Given the description of an element on the screen output the (x, y) to click on. 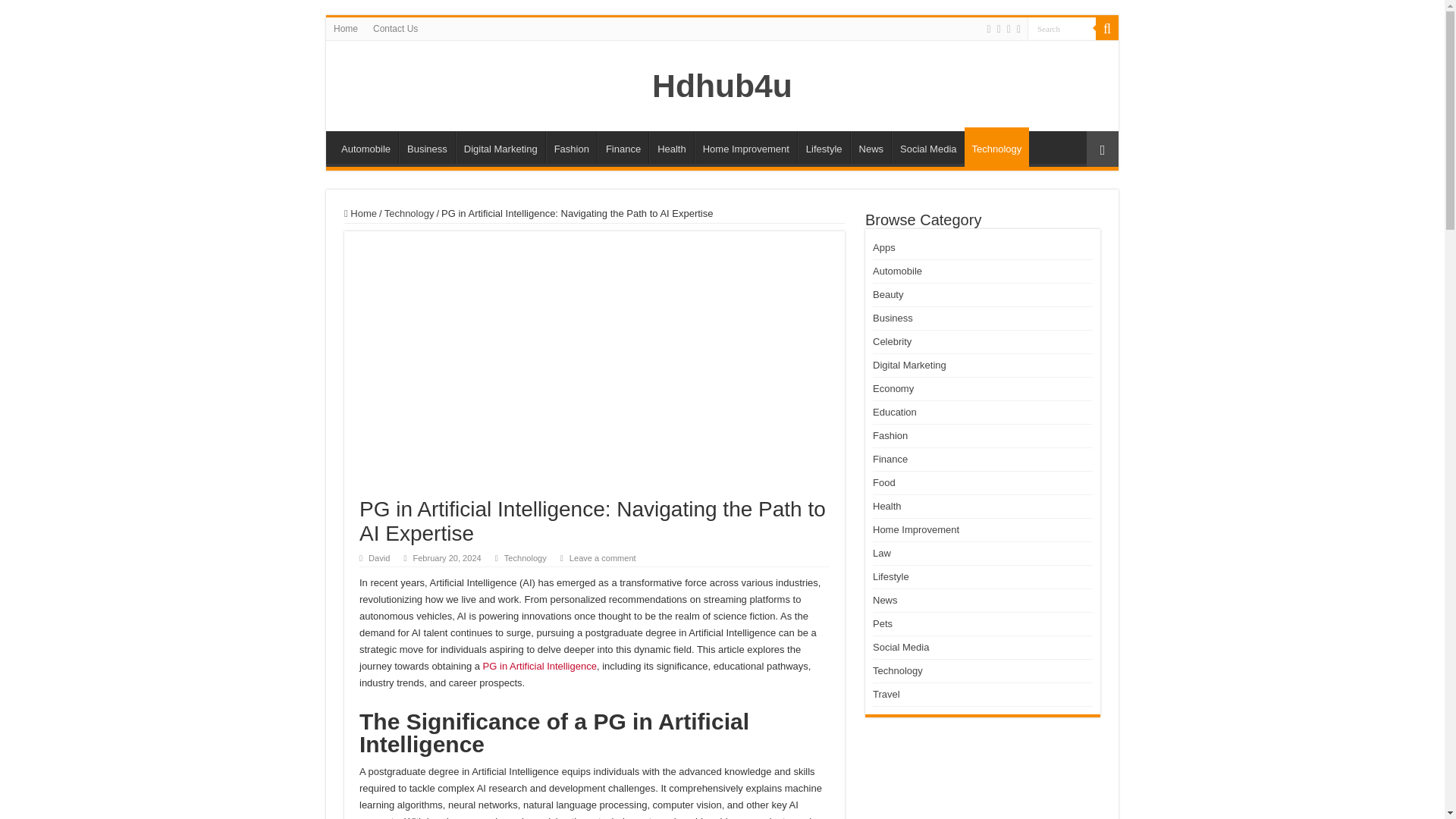
News (870, 146)
David (379, 557)
Business (426, 146)
Contact Us (395, 28)
Health (671, 146)
Social Media (927, 146)
Automobile (365, 146)
Home (360, 213)
Technology (525, 557)
PG in Artificial Intelligence (539, 665)
Search (1107, 28)
Random Article (1102, 149)
Technology (996, 147)
Fashion (571, 146)
Technology (408, 213)
